Given the description of an element on the screen output the (x, y) to click on. 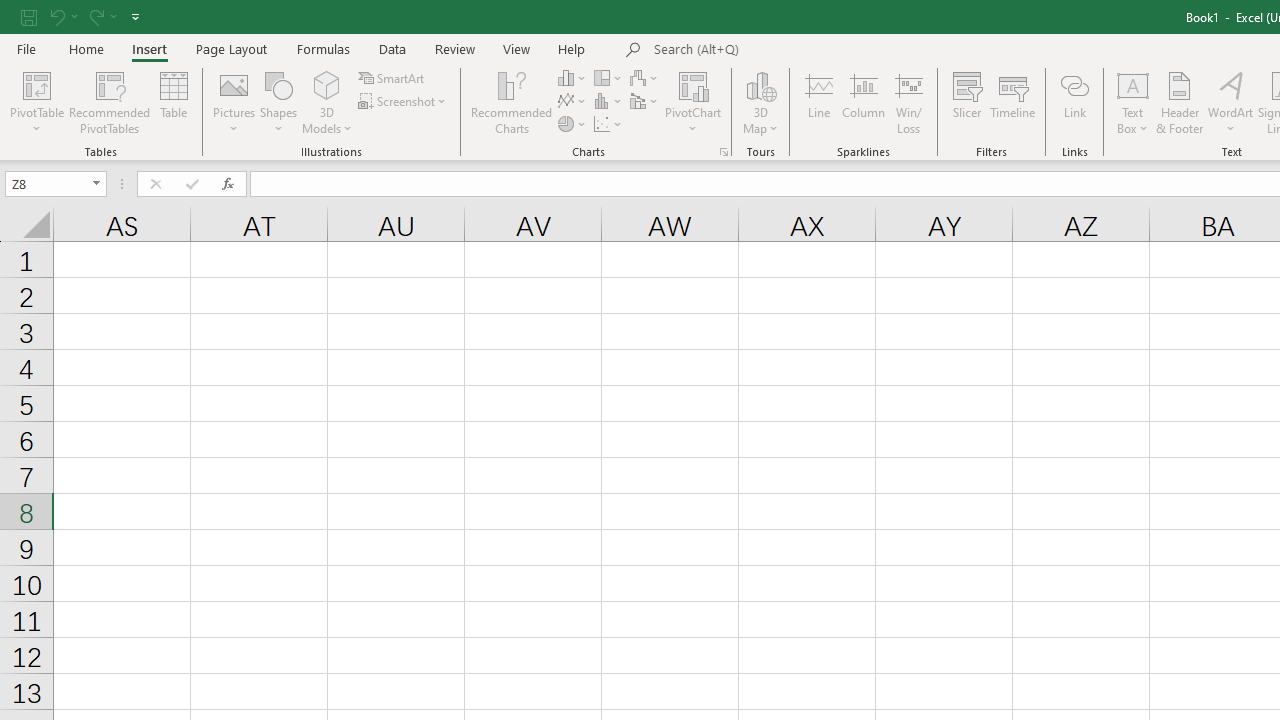
Recommended Charts (723, 151)
Text Box (1133, 102)
Insert Scatter (X, Y) or Bubble Chart (609, 124)
WordArt (1230, 102)
Table (173, 102)
Insert Pie or Doughnut Chart (573, 124)
Line (818, 102)
PivotTable (36, 102)
PivotChart (693, 102)
3D Models (326, 84)
